Given the description of an element on the screen output the (x, y) to click on. 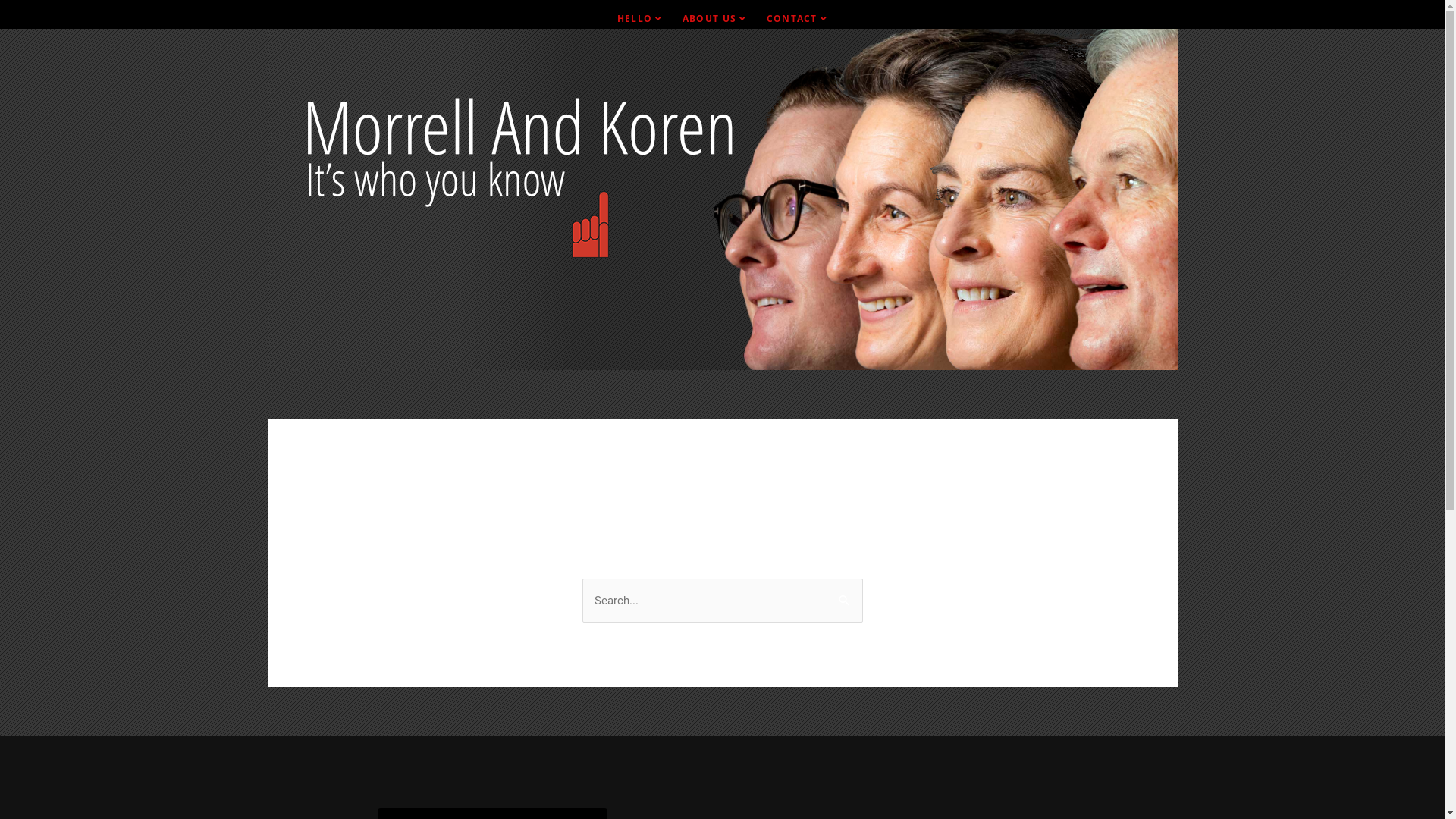
ABOUT US Element type: text (714, 18)
CONTACT Element type: text (796, 18)
HELLO Element type: text (639, 18)
Search Element type: text (845, 593)
